Given the description of an element on the screen output the (x, y) to click on. 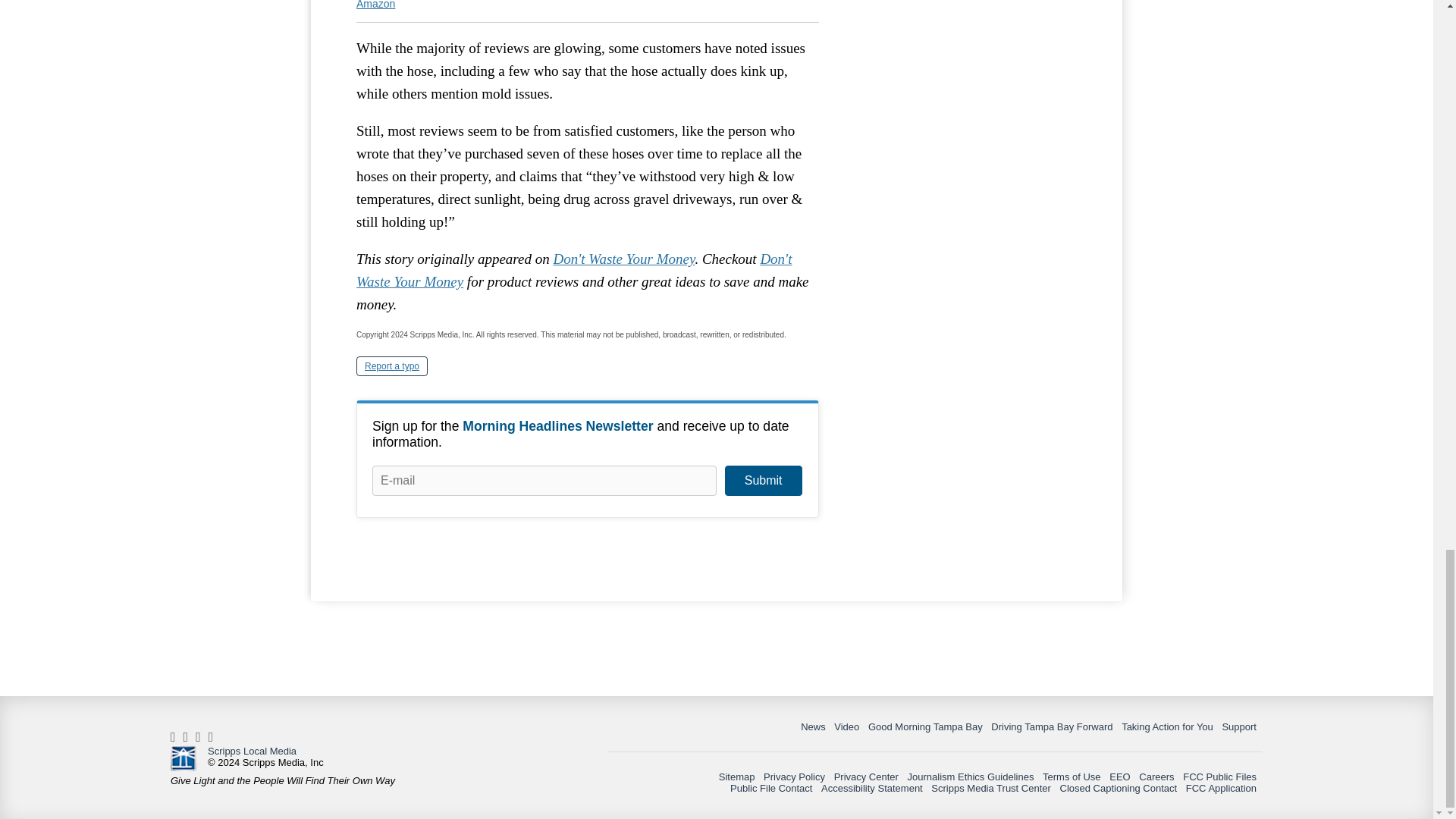
Submit (763, 481)
